Given the description of an element on the screen output the (x, y) to click on. 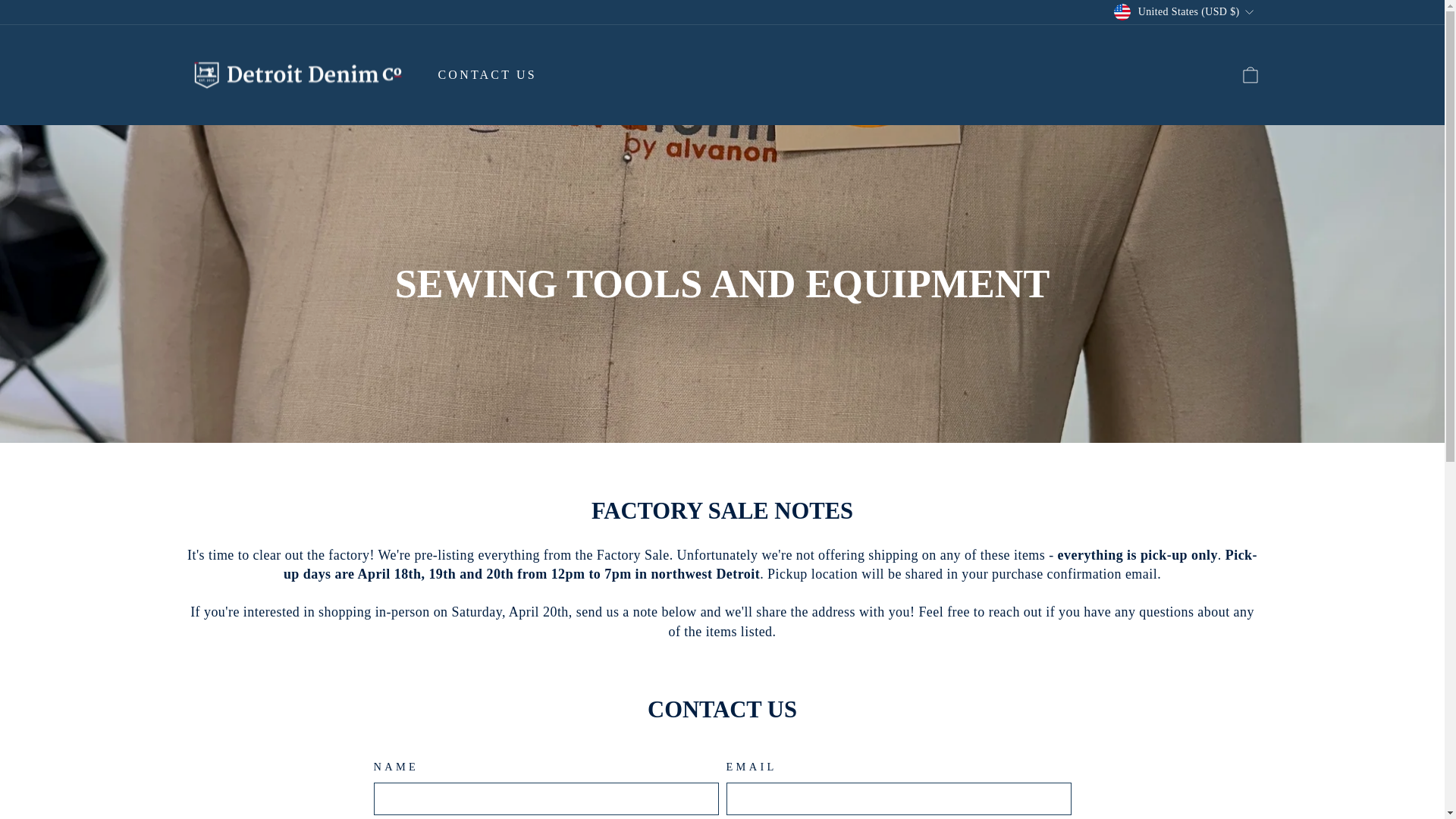
ICON-BAG-MINIMAL (1249, 74)
CONTACT US (486, 74)
